Given the description of an element on the screen output the (x, y) to click on. 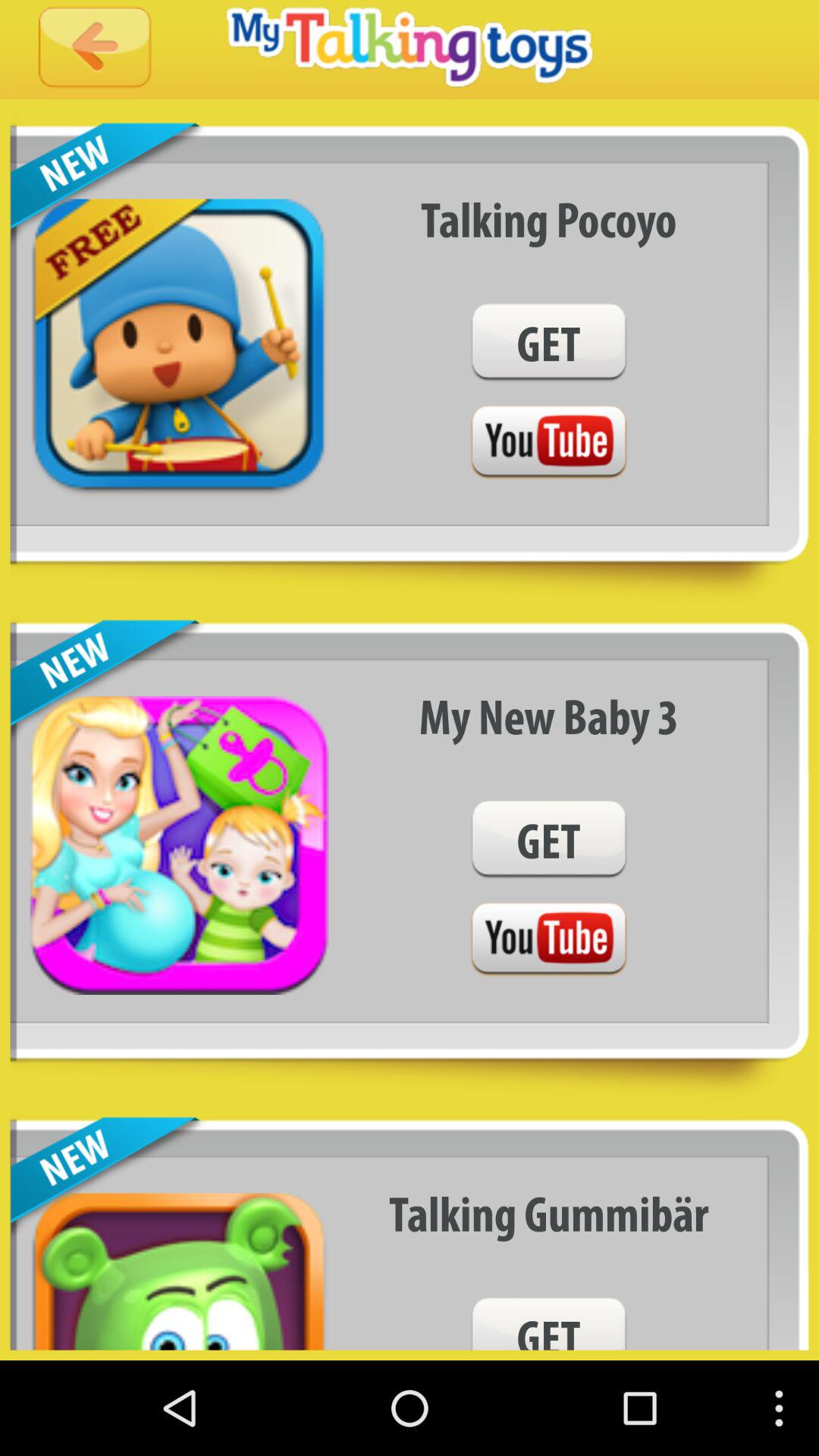
click icon above the get icon (548, 218)
